Given the description of an element on the screen output the (x, y) to click on. 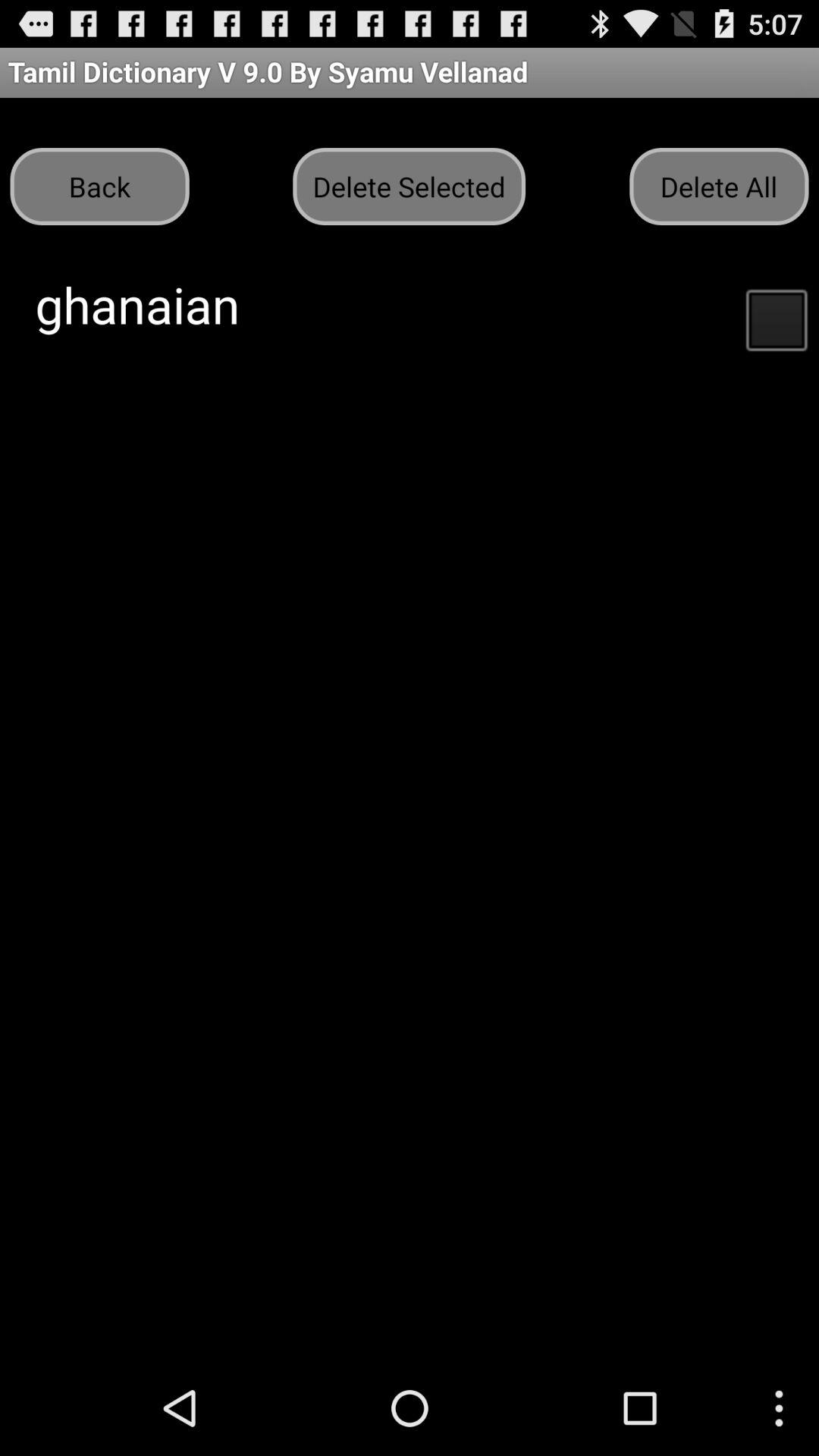
open the button to the left of delete all button (408, 186)
